Given the description of an element on the screen output the (x, y) to click on. 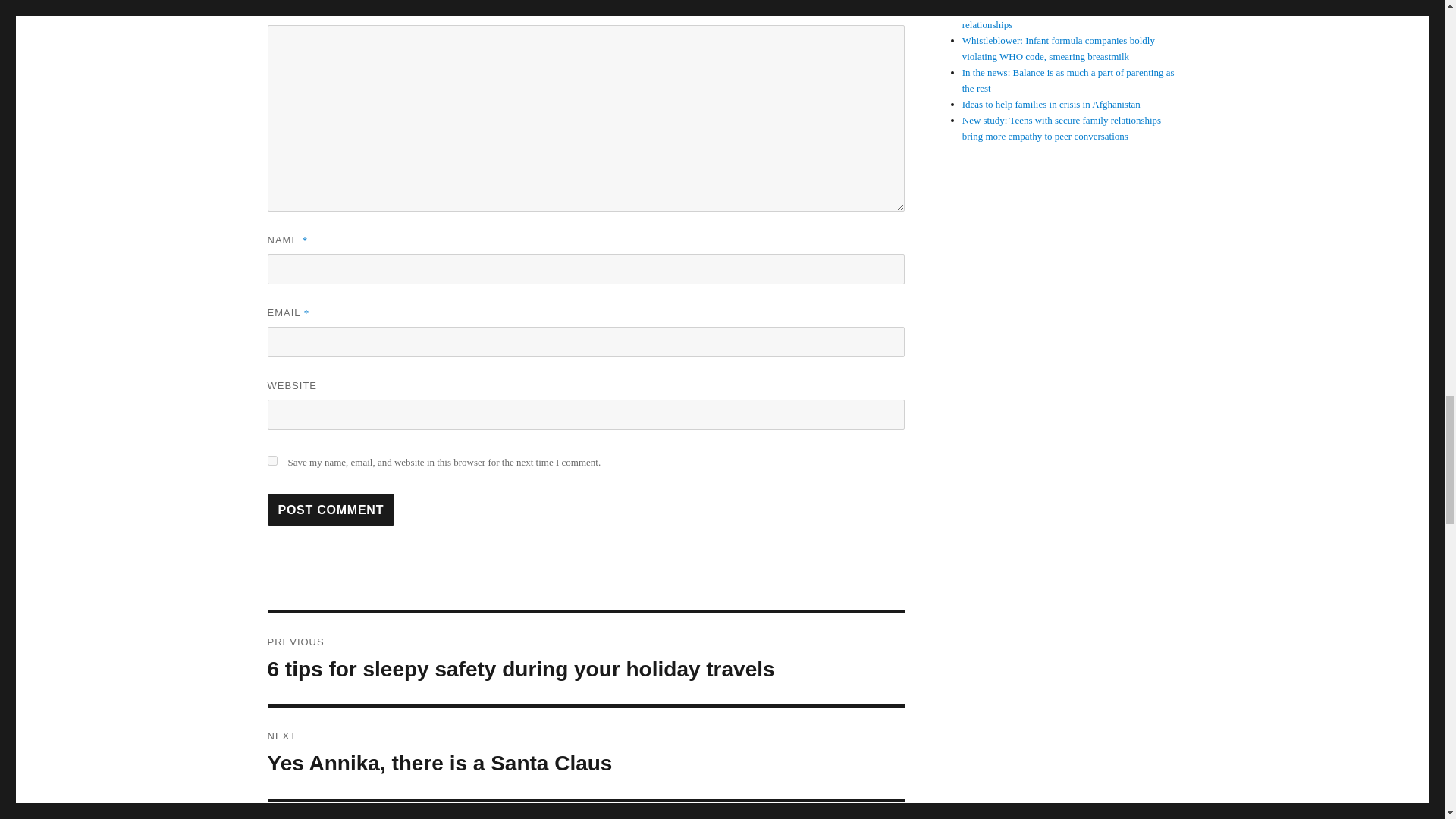
Post Comment (330, 509)
Post Comment (330, 509)
yes (585, 752)
